Given the description of an element on the screen output the (x, y) to click on. 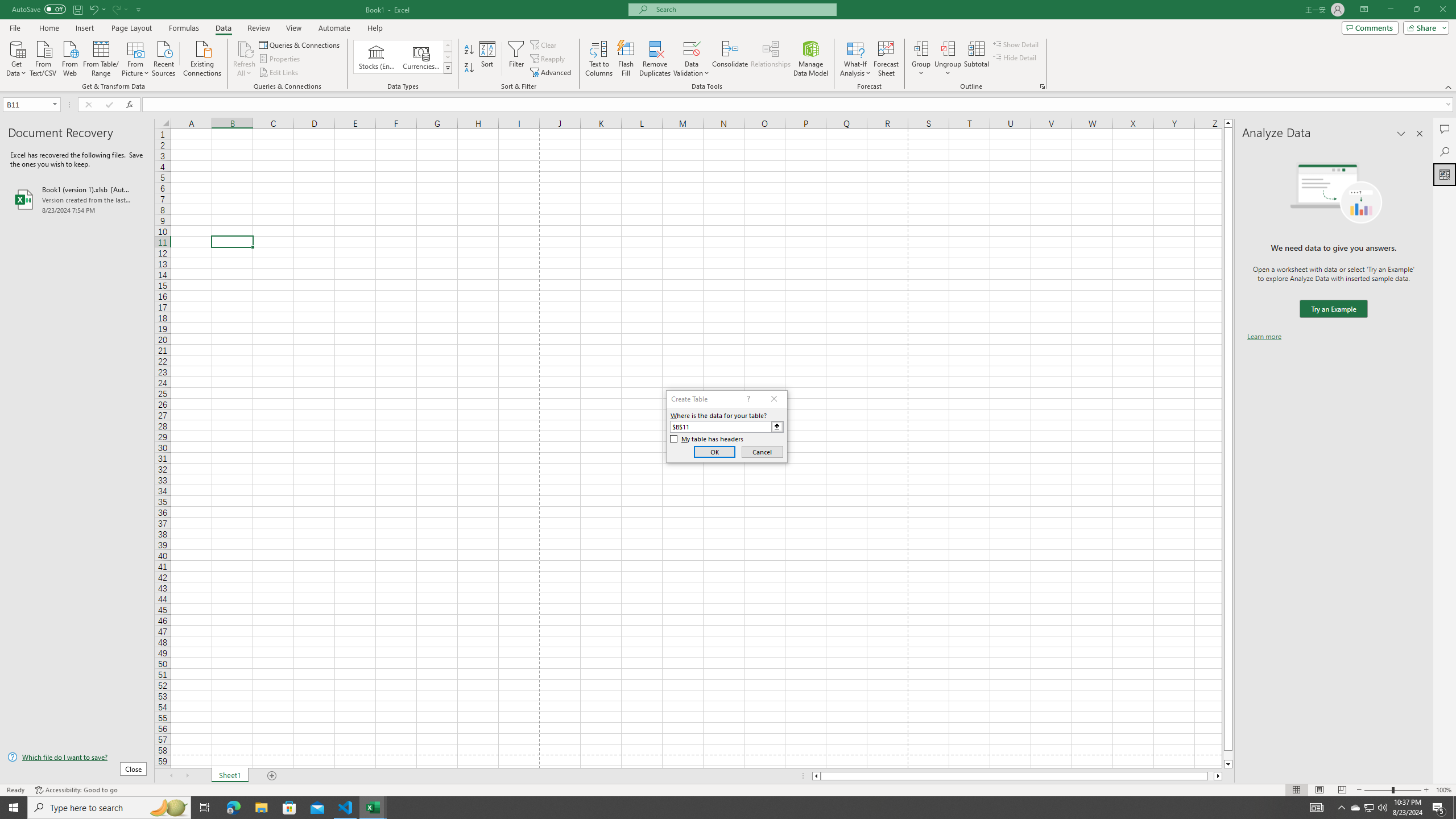
Analyze Data (1444, 173)
Task Pane Options (1400, 133)
Existing Connections (202, 57)
Get Data (16, 57)
What-If Analysis (855, 58)
Forecast Sheet (885, 58)
Manage Data Model (810, 58)
Refresh All (244, 48)
Data Validation... (691, 48)
Ungroup... (947, 48)
